Given the description of an element on the screen output the (x, y) to click on. 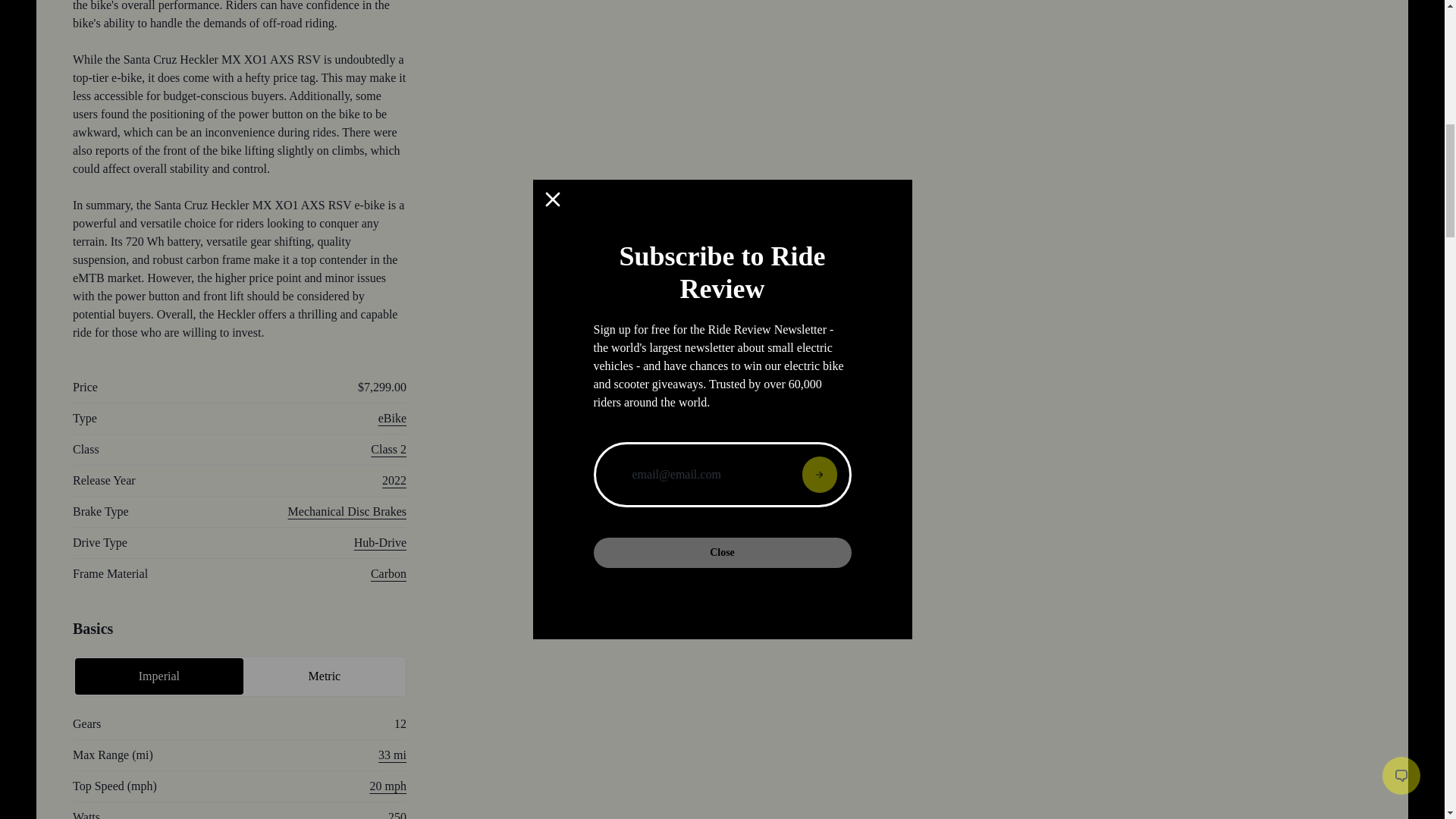
Class 2 (388, 449)
250 (397, 814)
20 mph (387, 785)
eBike (392, 418)
2022 (393, 480)
33 mi (392, 754)
Hub-Drive (379, 542)
Carbon (388, 573)
Mechanical Disc Brakes (347, 511)
